Given the description of an element on the screen output the (x, y) to click on. 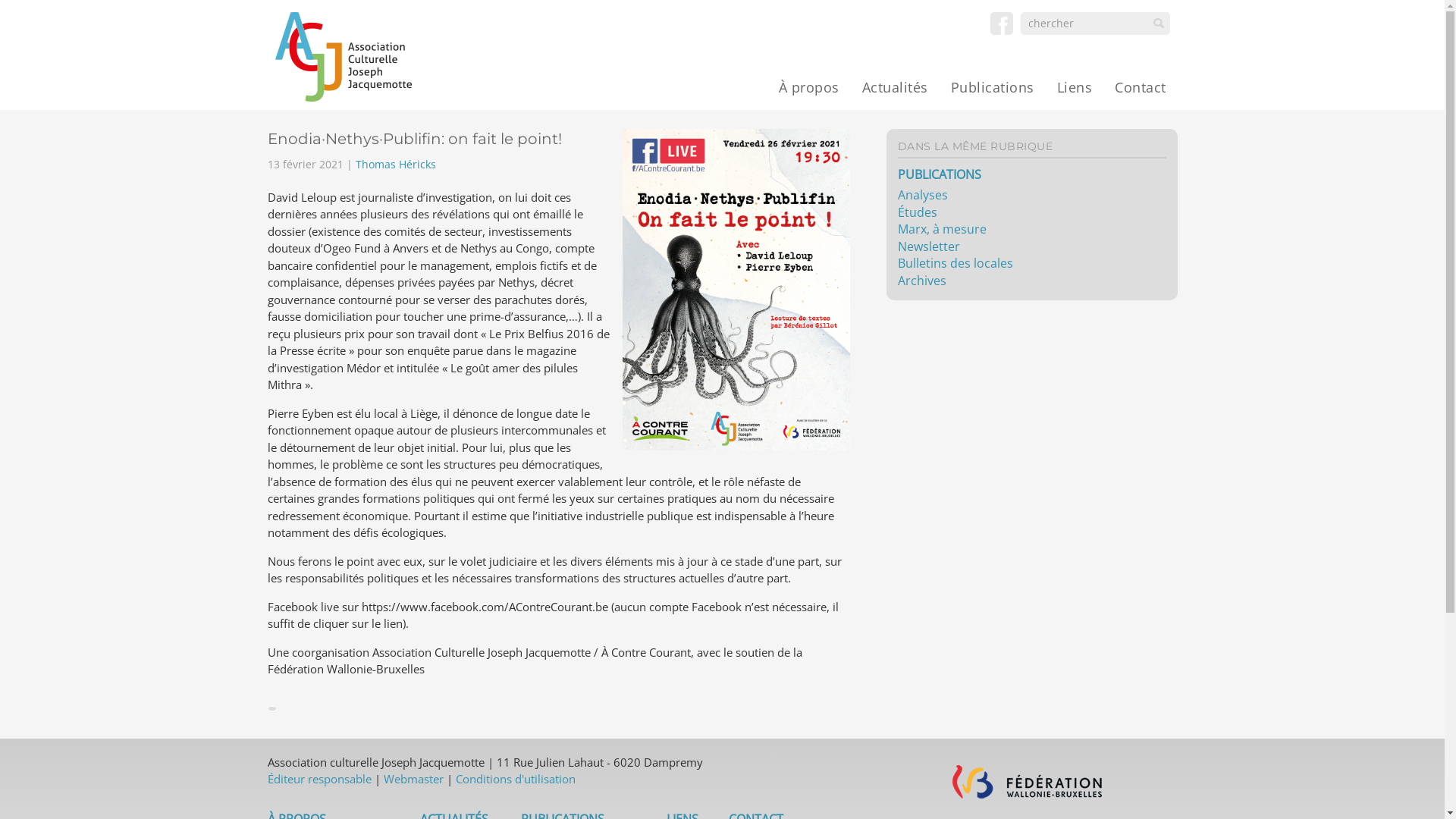
Webmaster Element type: text (413, 778)
Contact Element type: text (1140, 87)
Publications Element type: text (991, 87)
  Element type: text (1001, 23)
Conditions d'utilisation Element type: text (514, 778)
Bulletins des locales Element type: text (955, 262)
Newsletter Element type: text (928, 246)
Liens Element type: text (1073, 87)
PUBLICATIONS Element type: text (939, 174)
  Element type: text (342, 56)
Archives Element type: text (921, 280)
Analyses Element type: text (922, 194)
